Given the description of an element on the screen output the (x, y) to click on. 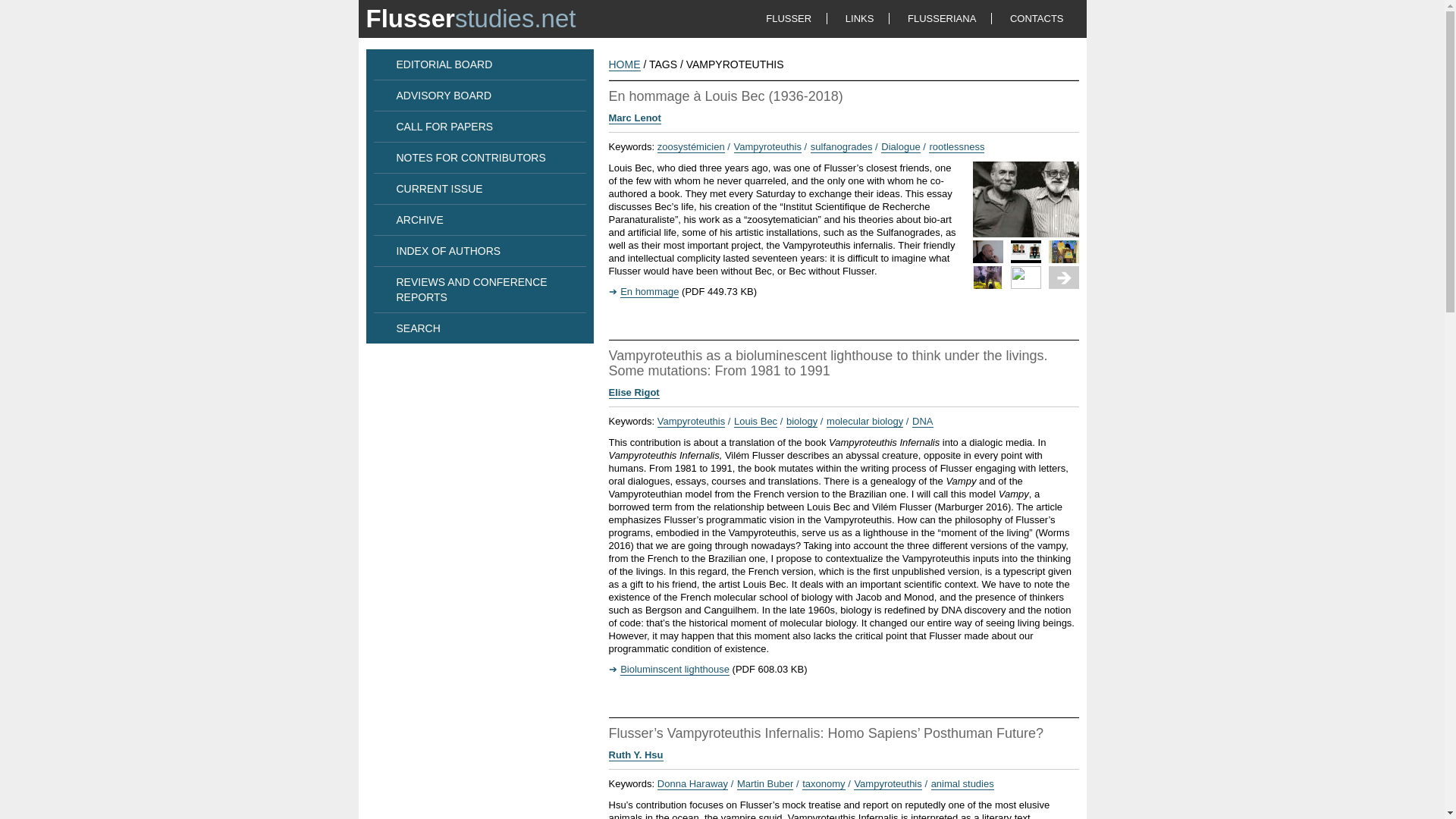
REVIEWS AND CONFERENCE REPORTS (471, 289)
EDITORIAL BOARD (444, 64)
lenot-hommage-a-louis-bec.pdf (643, 291)
Flusserstudies.net (470, 18)
Elise Rigot (633, 392)
FLUSSERIANA (941, 18)
Louis Bec (751, 421)
molecular biology (859, 421)
INDEX OF AUTHORS (448, 250)
CALL FOR PAPERS (444, 126)
